Given the description of an element on the screen output the (x, y) to click on. 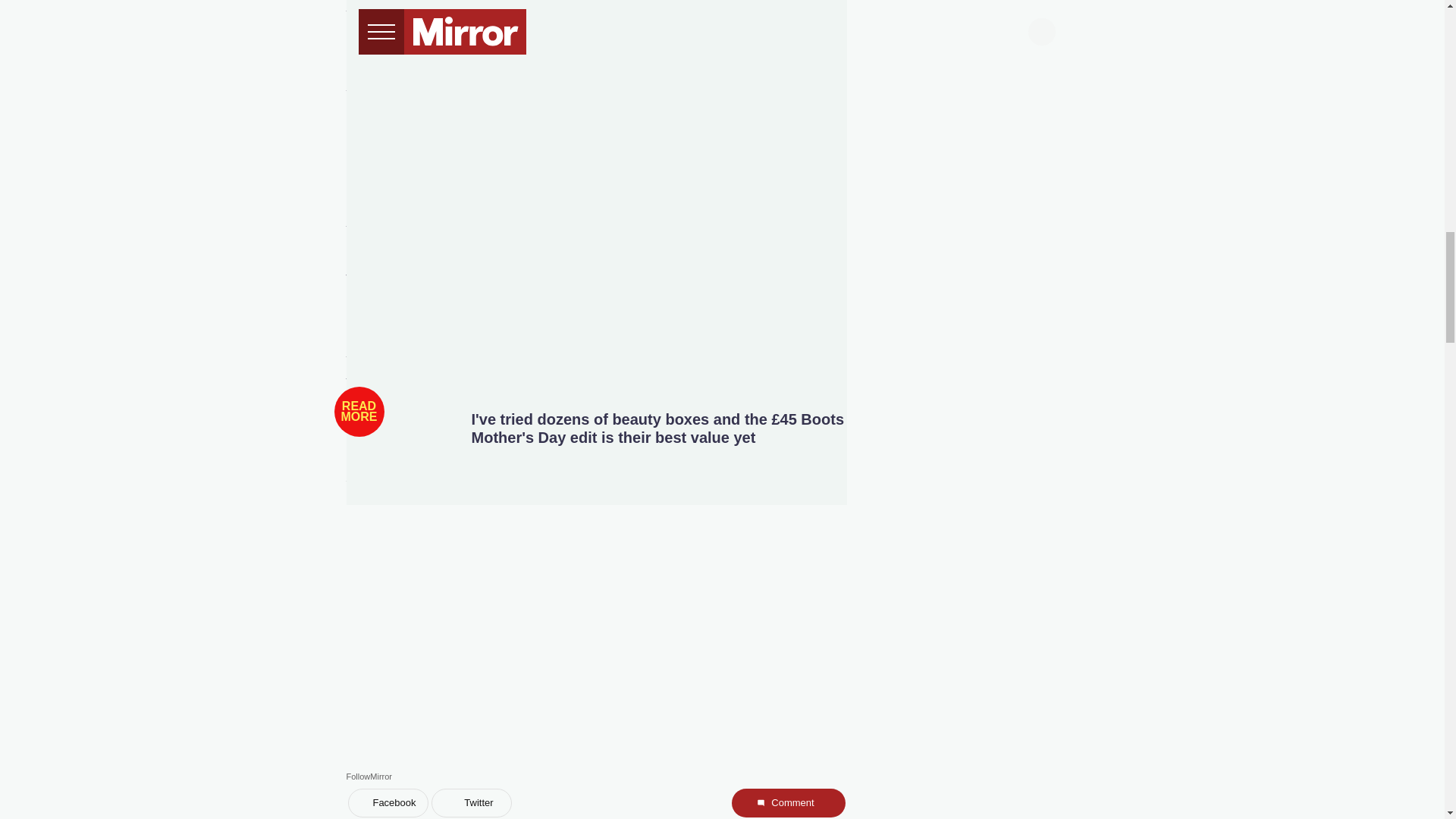
David (523, 76)
Instagram (701, 76)
Valentine's Day (685, 195)
Victoria Beckham (399, 1)
